Given the description of an element on the screen output the (x, y) to click on. 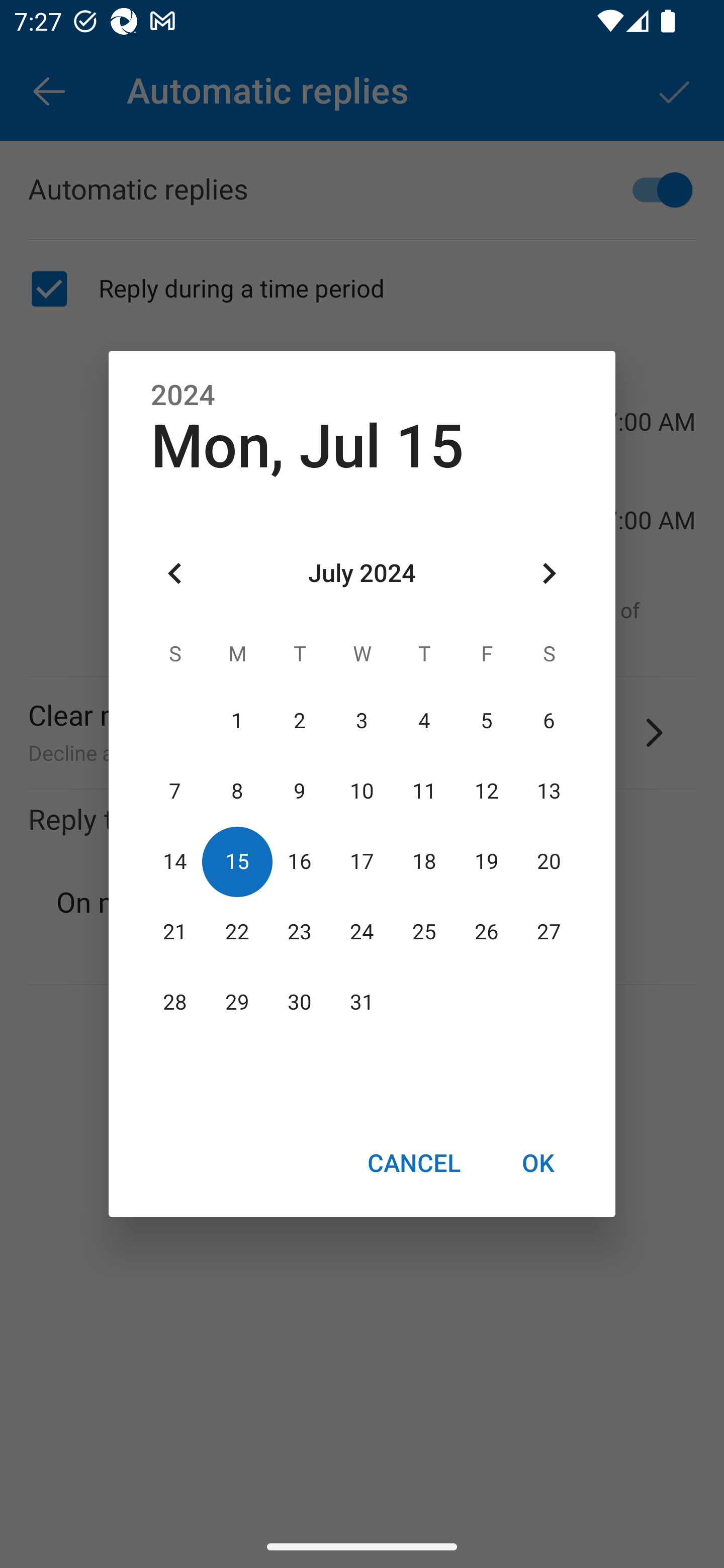
2024 (182, 395)
Mon, Jul 15 (307, 446)
Previous month (174, 573)
Next month (548, 573)
1 01 July 2024 (237, 720)
2 02 July 2024 (299, 720)
3 03 July 2024 (361, 720)
4 04 July 2024 (424, 720)
5 05 July 2024 (486, 720)
6 06 July 2024 (548, 720)
7 07 July 2024 (175, 790)
8 08 July 2024 (237, 790)
9 09 July 2024 (299, 790)
10 10 July 2024 (361, 790)
11 11 July 2024 (424, 790)
12 12 July 2024 (486, 790)
13 13 July 2024 (548, 790)
14 14 July 2024 (175, 861)
15 15 July 2024 (237, 861)
16 16 July 2024 (299, 861)
17 17 July 2024 (361, 861)
18 18 July 2024 (424, 861)
19 19 July 2024 (486, 861)
20 20 July 2024 (548, 861)
21 21 July 2024 (175, 931)
22 22 July 2024 (237, 931)
23 23 July 2024 (299, 931)
24 24 July 2024 (361, 931)
25 25 July 2024 (424, 931)
26 26 July 2024 (486, 931)
27 27 July 2024 (548, 931)
28 28 July 2024 (175, 1002)
29 29 July 2024 (237, 1002)
30 30 July 2024 (299, 1002)
31 31 July 2024 (361, 1002)
CANCEL (413, 1162)
OK (537, 1162)
